Given the description of an element on the screen output the (x, y) to click on. 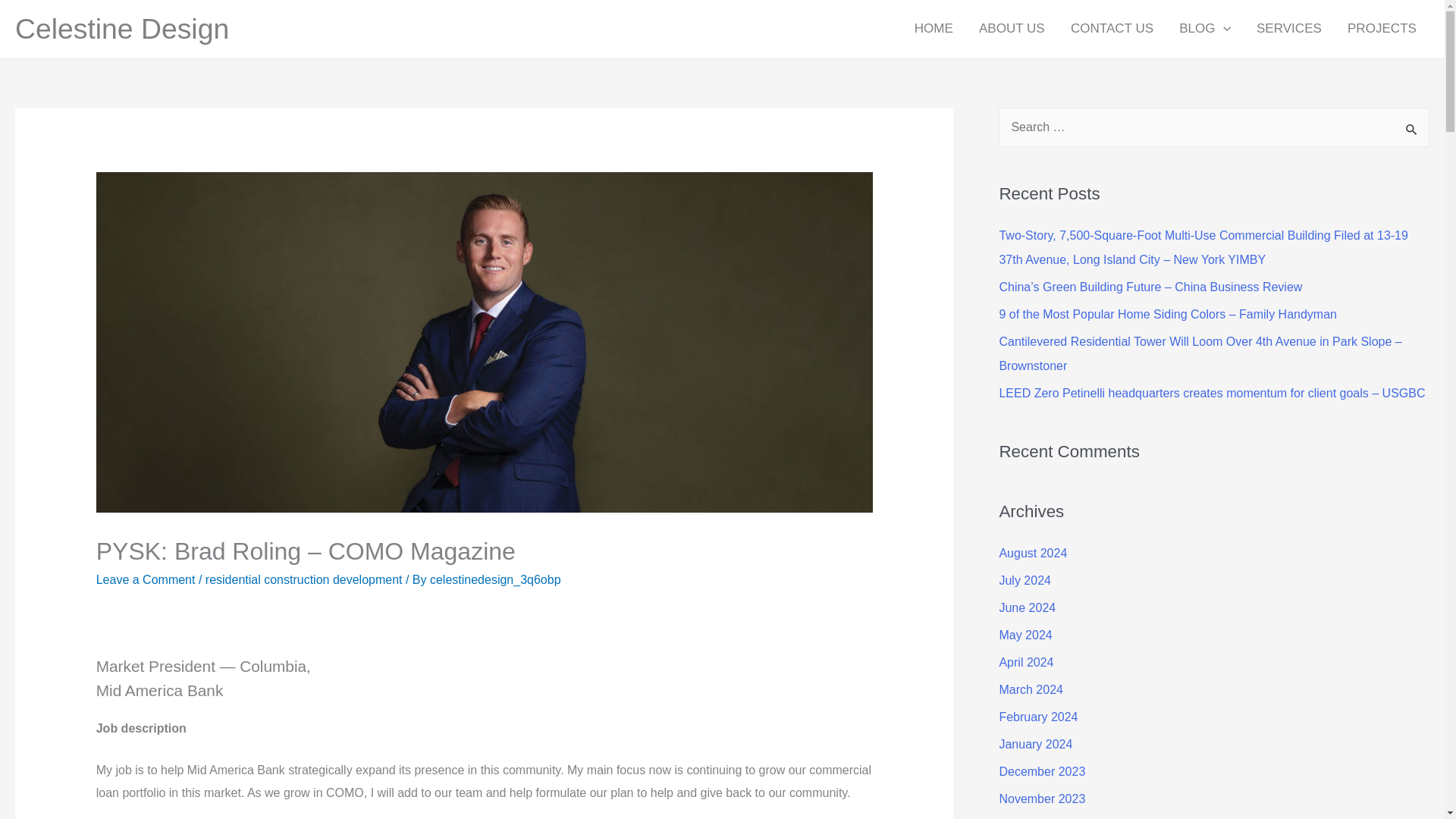
residential construction development (304, 579)
CONTACT US (1112, 28)
BLOG (1204, 28)
Celestine Design (121, 29)
SERVICES (1289, 28)
HOME (933, 28)
Leave a Comment (145, 579)
PROJECTS (1382, 28)
ABOUT US (1012, 28)
